Given the description of an element on the screen output the (x, y) to click on. 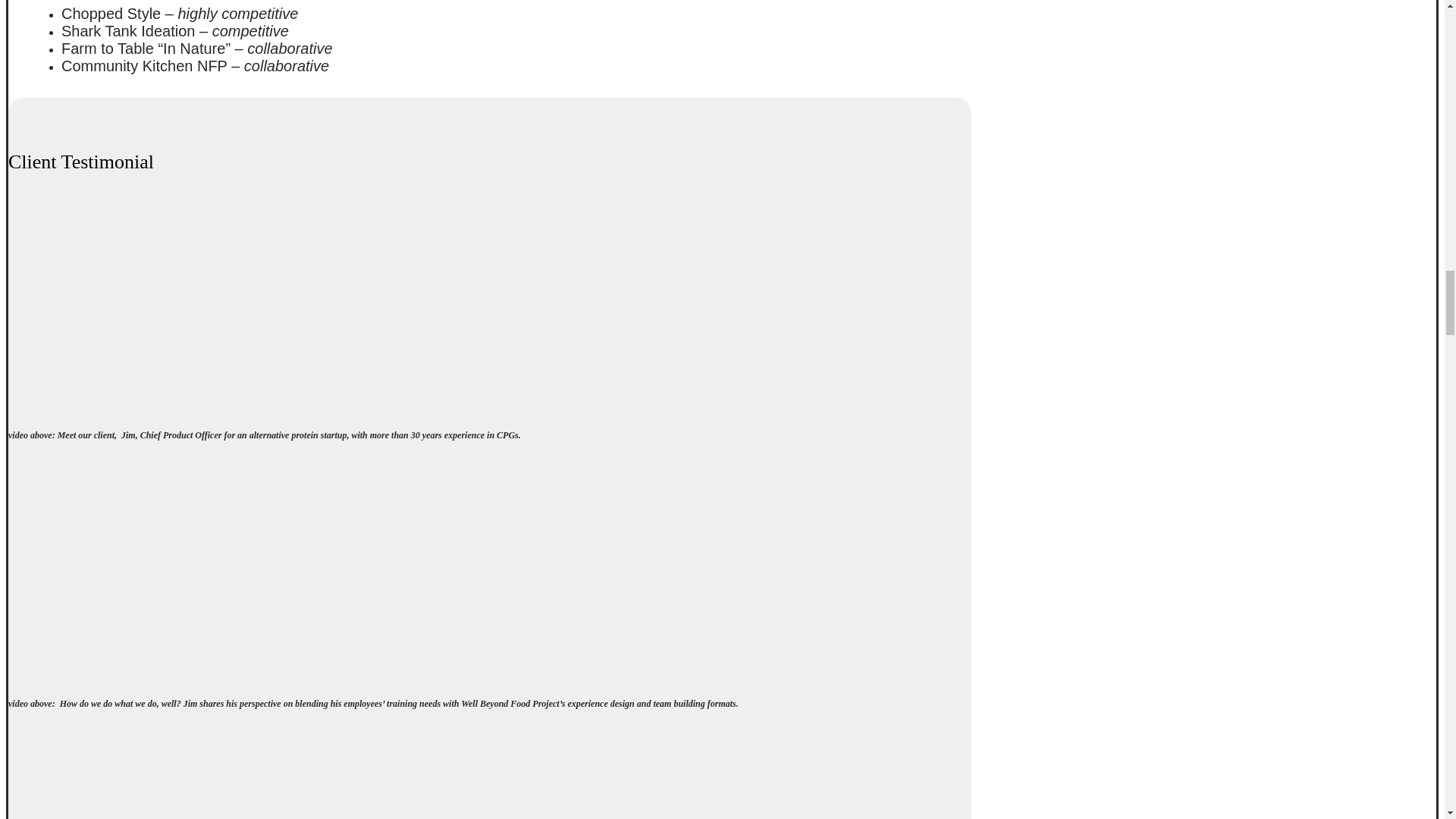
Testimonial 3 v4 Final with logo (197, 775)
Testimonial 1 v3 Final w logo Full version (197, 302)
Testimonial 2 v3 Final w logo (197, 570)
